Given the description of an element on the screen output the (x, y) to click on. 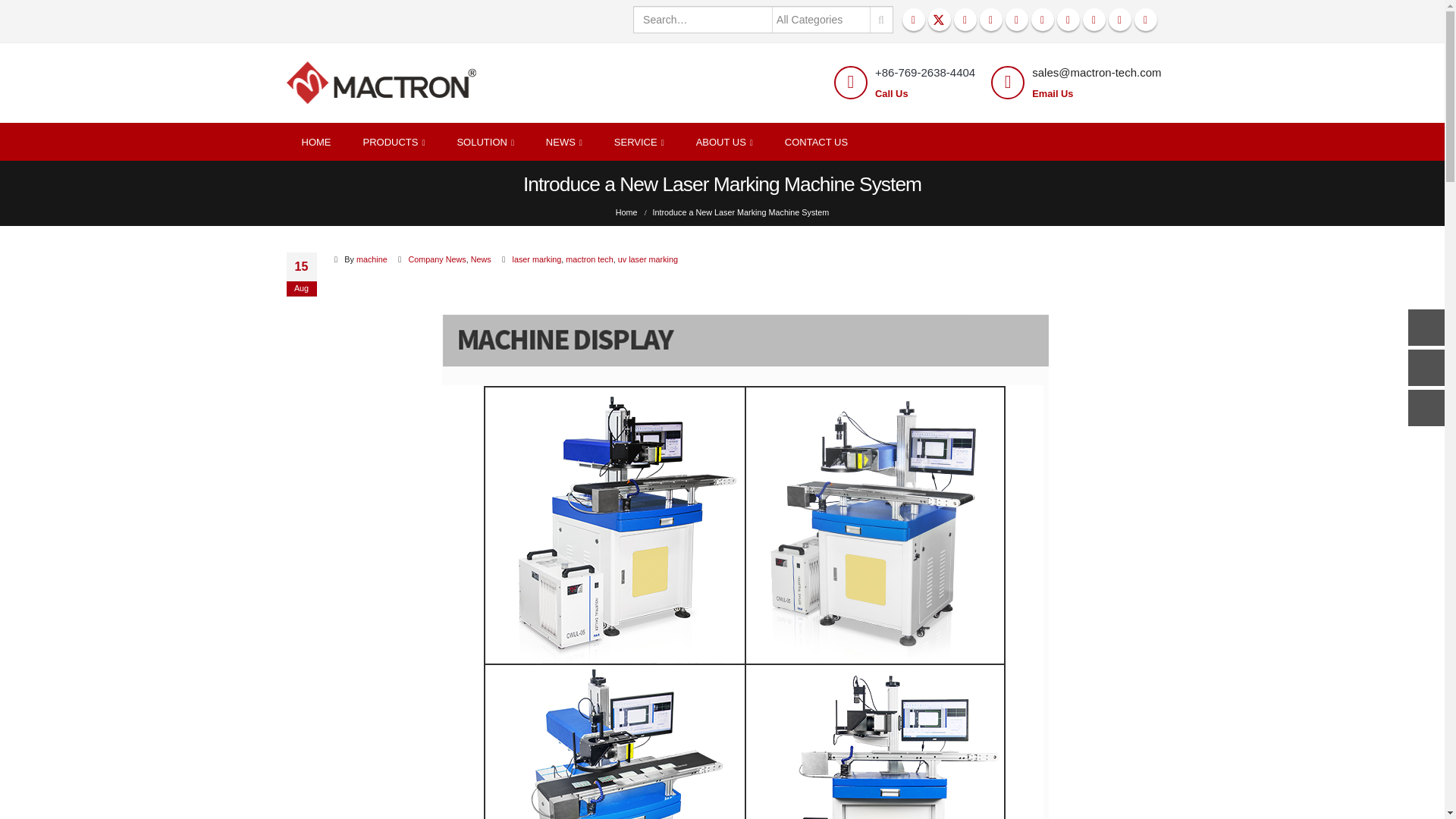
Tumblr (1119, 19)
Instagram (1016, 19)
Twitter (939, 19)
Call Us (891, 93)
Posts by machine (371, 258)
Email Us (1052, 93)
Skype (1042, 19)
Youtube (991, 19)
Google Plus (1094, 19)
LinkedIn (1068, 19)
